Given the description of an element on the screen output the (x, y) to click on. 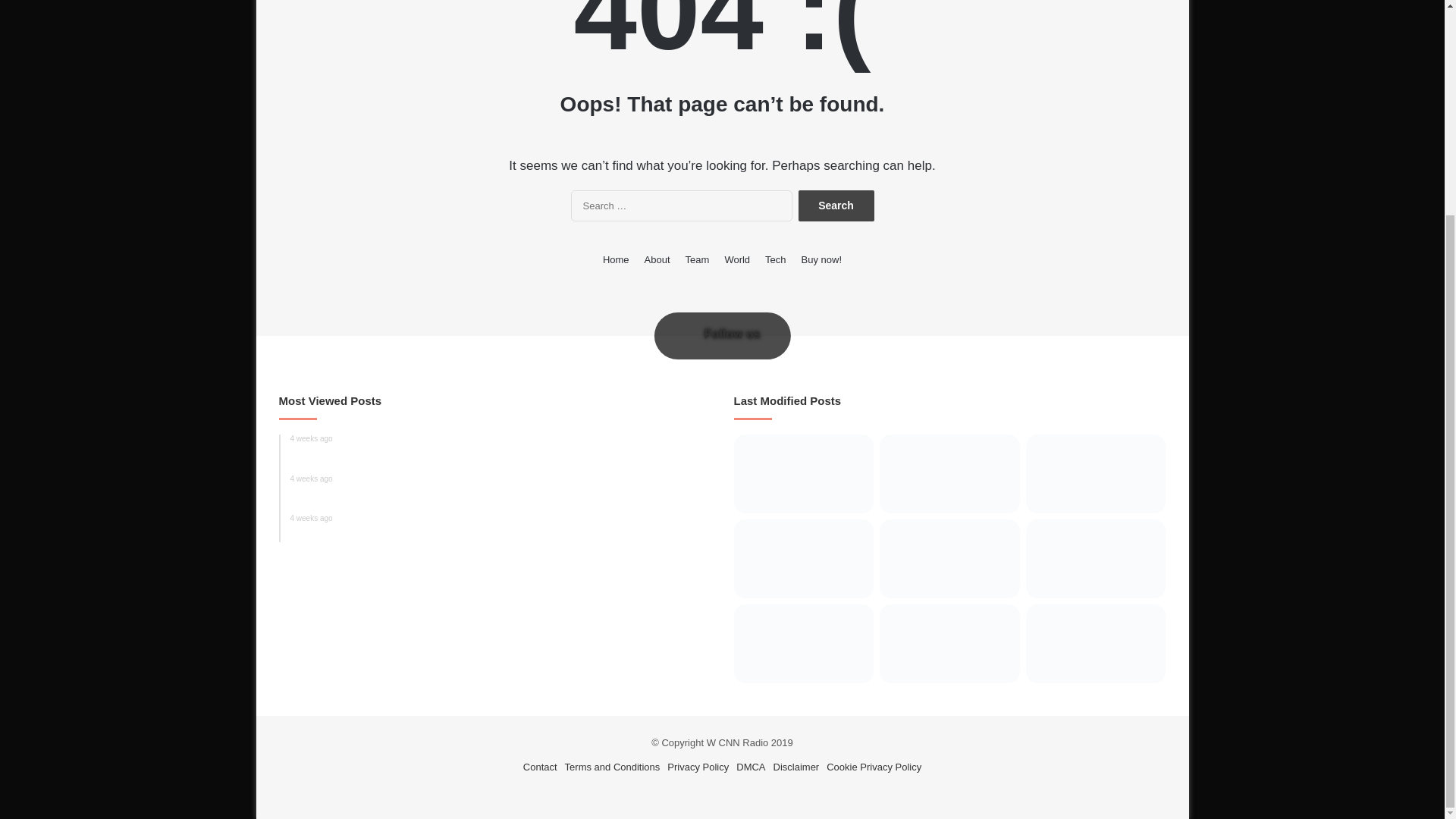
World (736, 259)
Buy now! (821, 259)
Home (615, 259)
Team (499, 448)
Search (697, 259)
Follow us (835, 205)
About (722, 333)
Search (657, 259)
Search (835, 205)
